Given the description of an element on the screen output the (x, y) to click on. 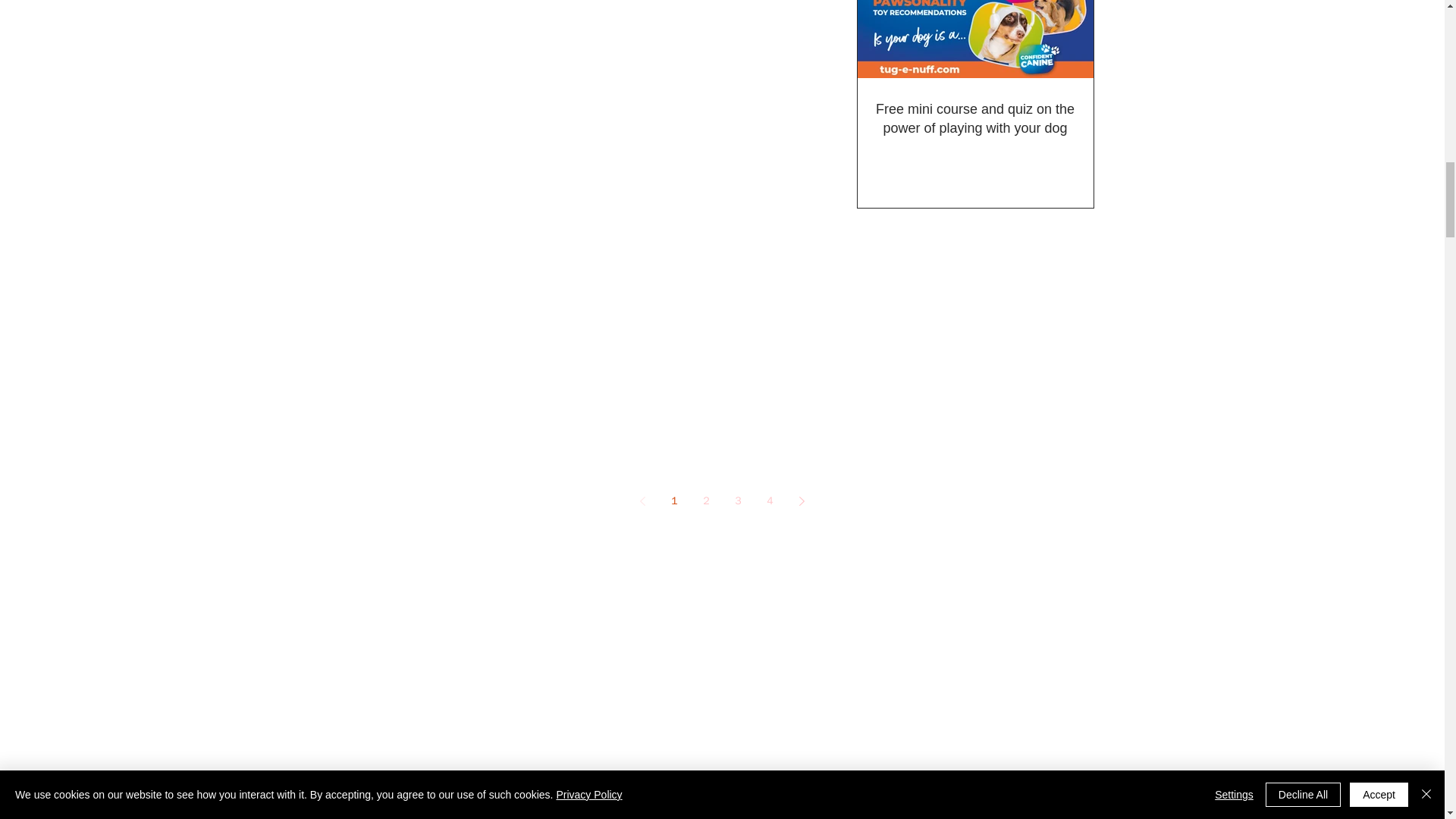
2 (706, 501)
4 (770, 501)
3 (738, 501)
